Given the description of an element on the screen output the (x, y) to click on. 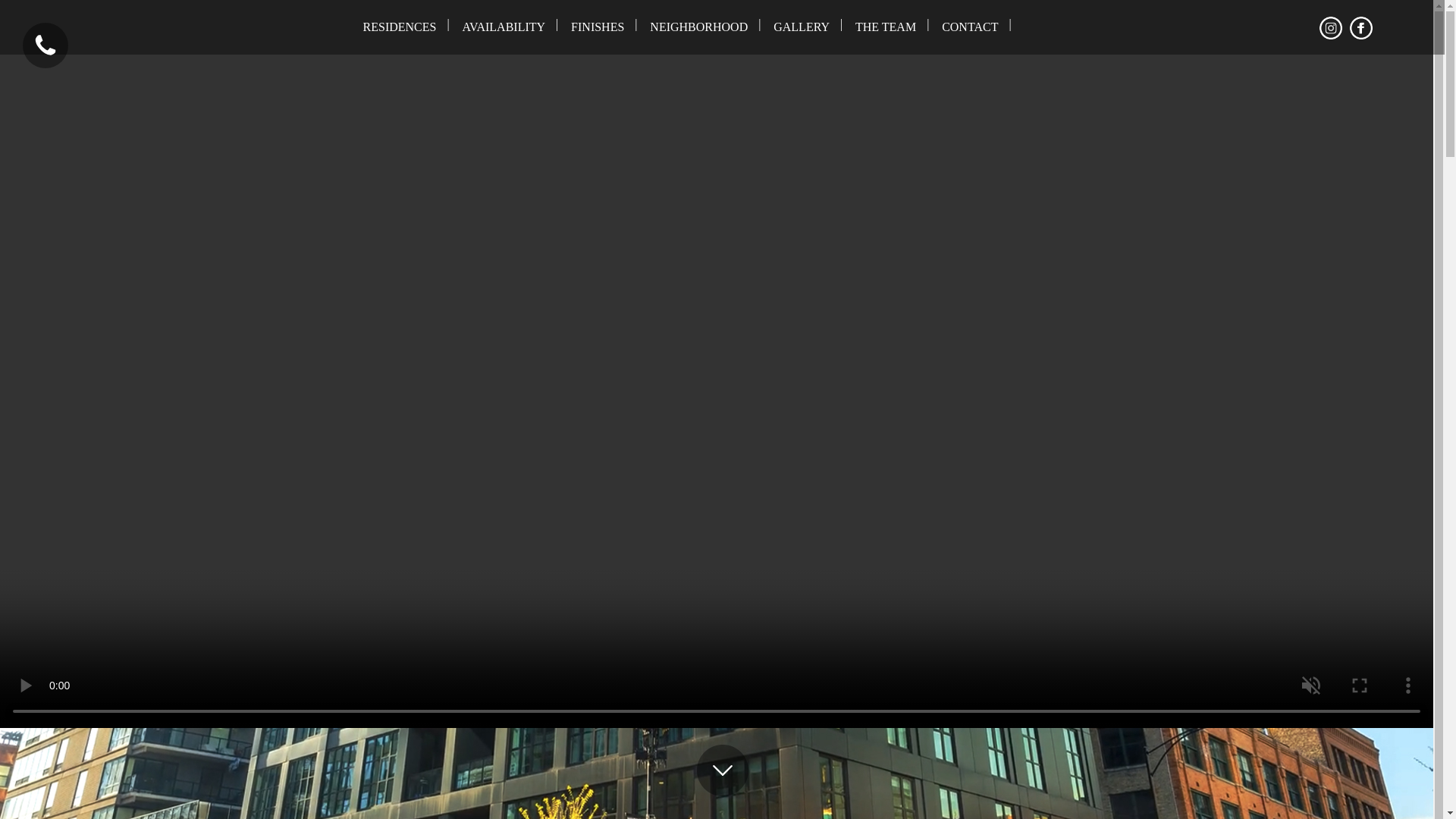
Contact (969, 27)
The team (885, 27)
AVAILABILITY (502, 27)
Gallery (801, 27)
NEIGHBORHOOD (698, 27)
FINISHES (596, 27)
CONTACT (969, 27)
GALLERY (801, 27)
Availability (502, 27)
RESIDENCES (400, 27)
Finishes (596, 27)
Residences (400, 27)
THE TEAM (885, 27)
Neighborhood (698, 27)
